Given the description of an element on the screen output the (x, y) to click on. 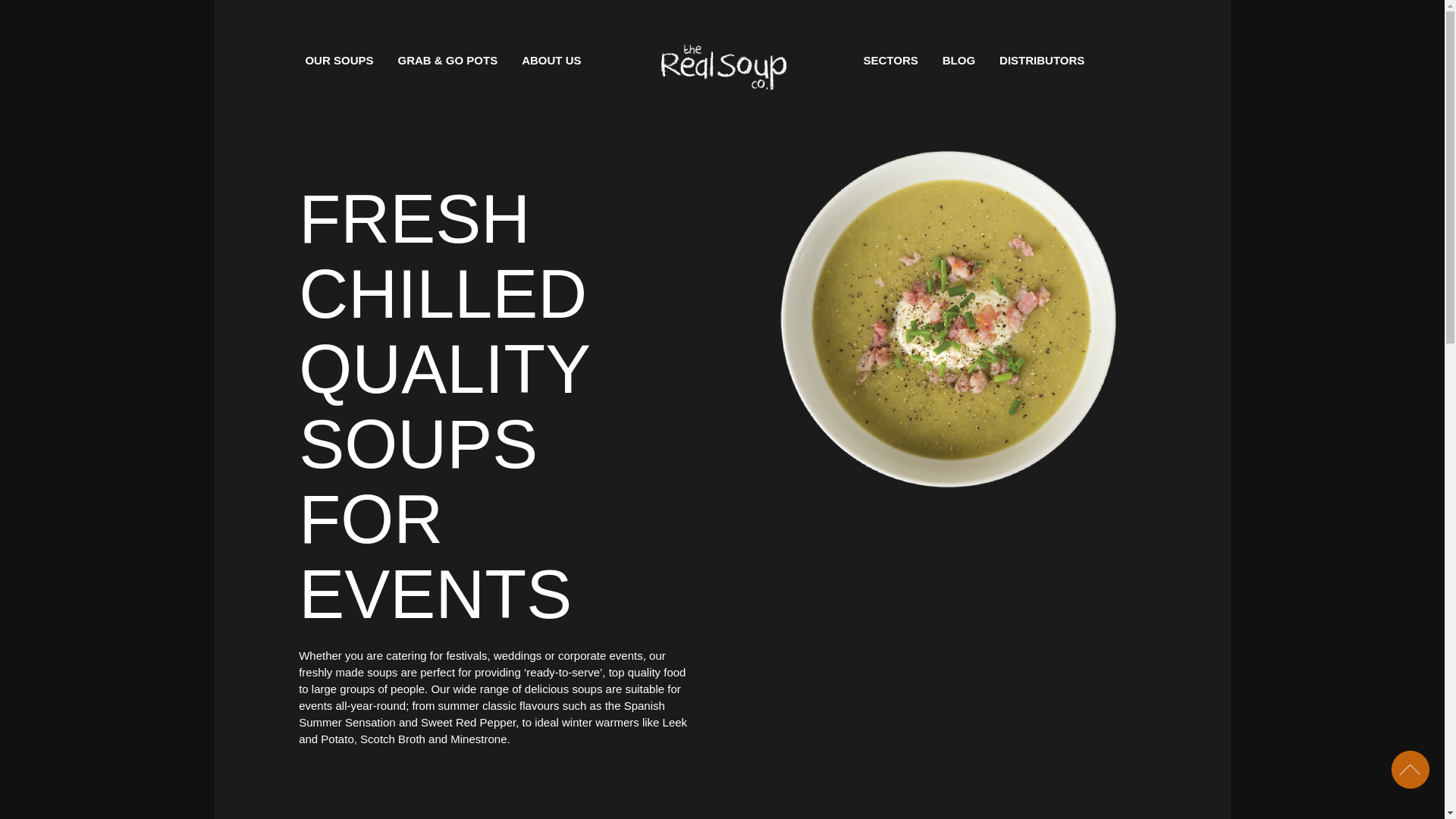
Sectors (890, 60)
About Us (550, 60)
BLOG (958, 60)
ABOUT US (550, 60)
OUR SOUPS (338, 60)
Scroll To Top (1410, 769)
DISTRIBUTORS (1041, 60)
Distributors (1041, 60)
Blog (958, 60)
SECTORS (890, 60)
Scroll To Top (1410, 769)
Our Soups (338, 60)
